Given the description of an element on the screen output the (x, y) to click on. 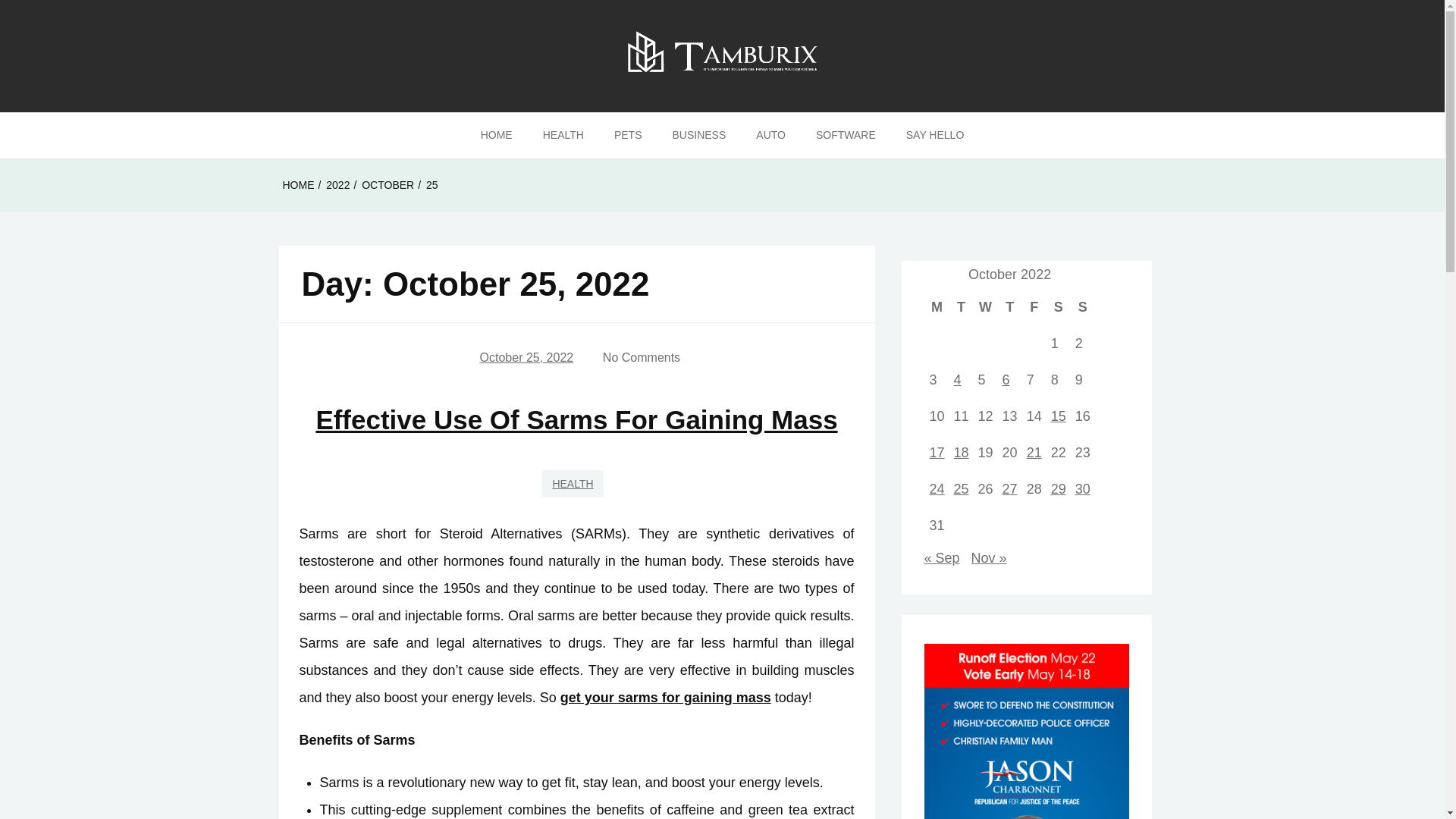
SOFTWARE (845, 135)
HOME (496, 135)
SAY HELLO (935, 135)
AUTO (770, 135)
2022 (337, 185)
BUSINESS (698, 135)
PETS (628, 135)
Tamburix (73, 137)
HEALTH (562, 135)
HOME (298, 185)
